Given the description of an element on the screen output the (x, y) to click on. 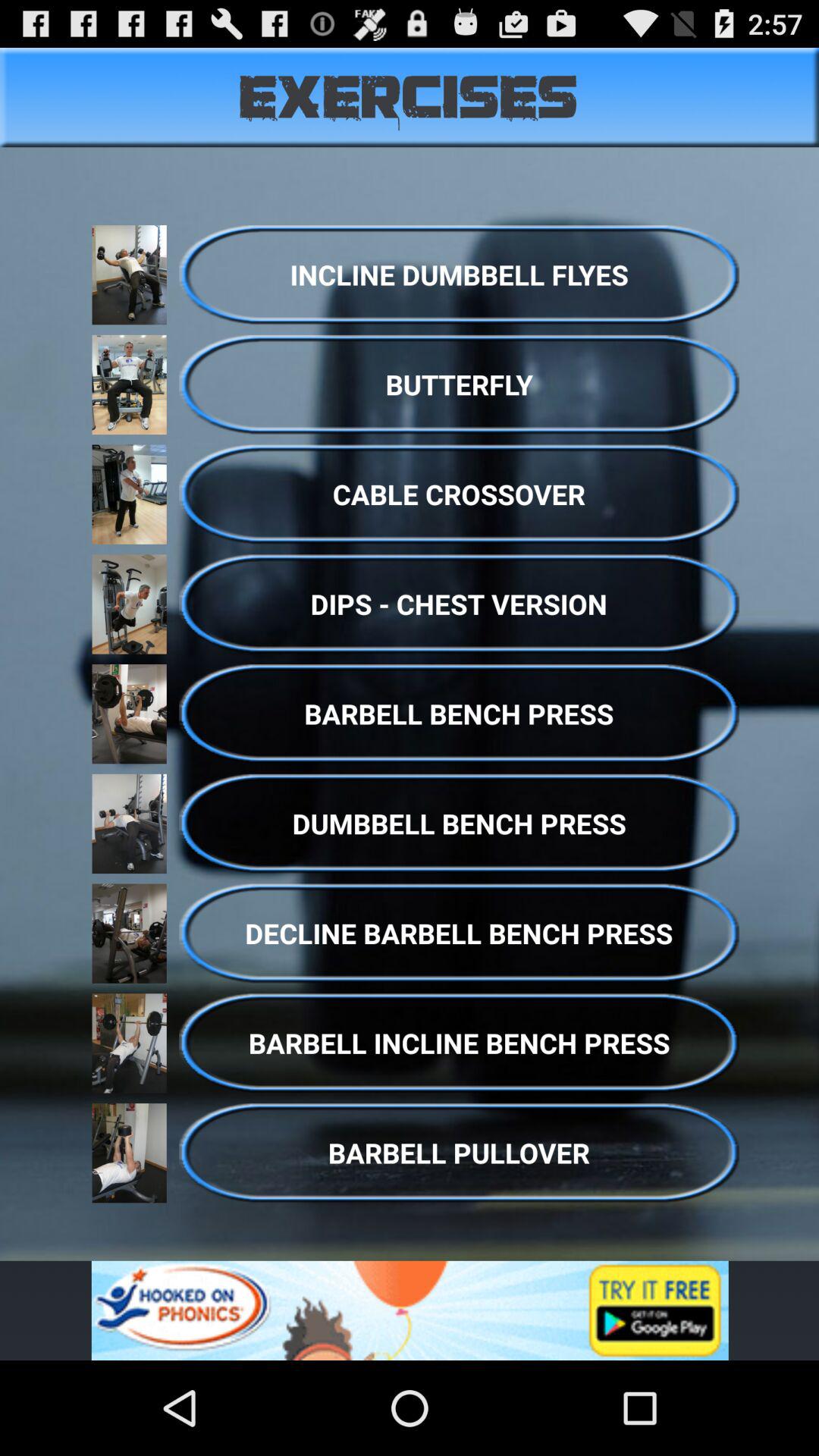
select the image which is left to the barbell bench press (129, 712)
